Given the description of an element on the screen output the (x, y) to click on. 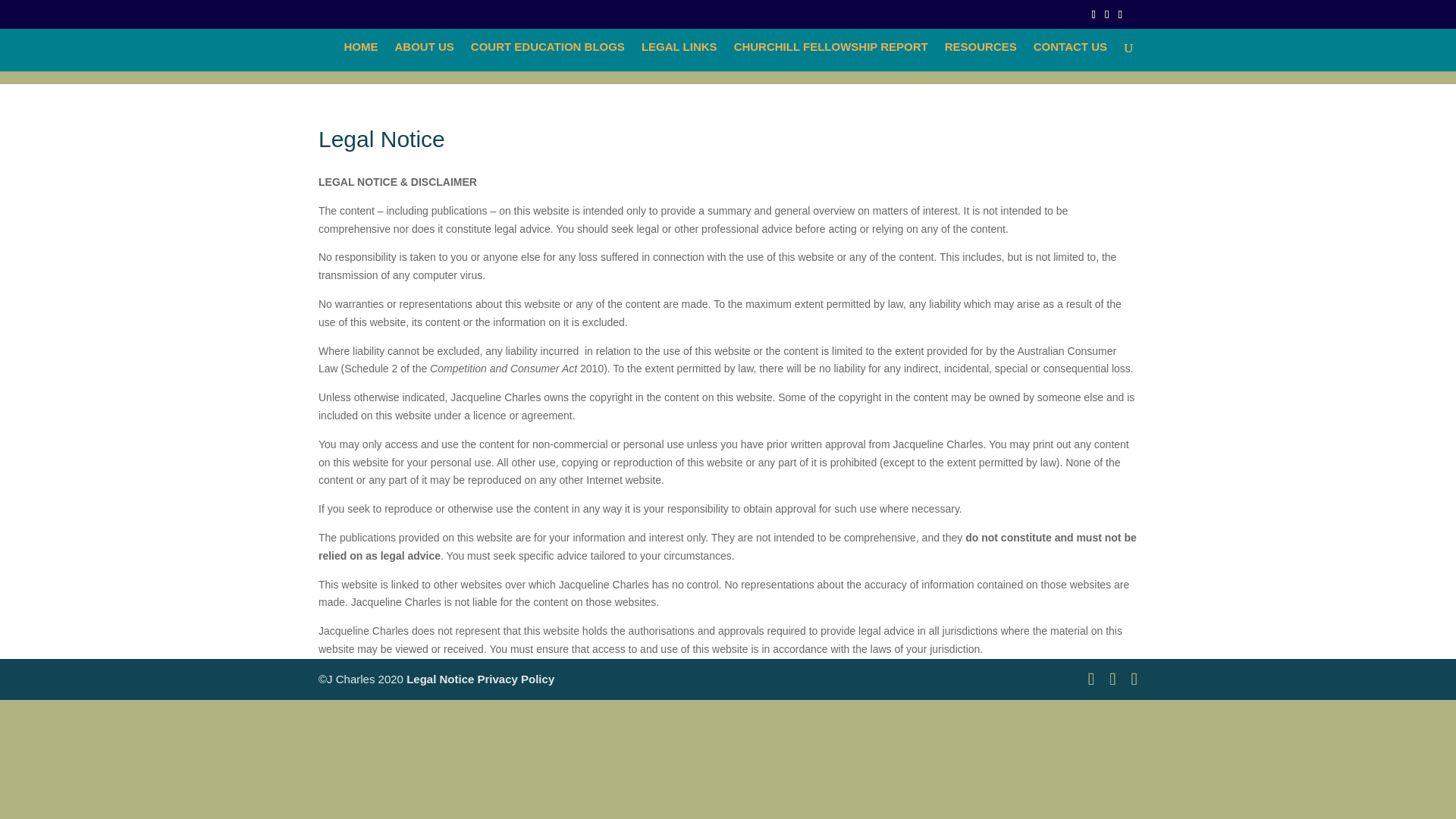
LEGAL LINKS (679, 56)
COURT EDUCATION BLOGS (547, 56)
Legal Notice (440, 678)
ABOUT US (423, 56)
RESOURCES (980, 56)
CONTACT US (1069, 56)
CHURCHILL FELLOWSHIP REPORT (830, 56)
Privacy Policy (515, 678)
HOME (360, 56)
